Given the description of an element on the screen output the (x, y) to click on. 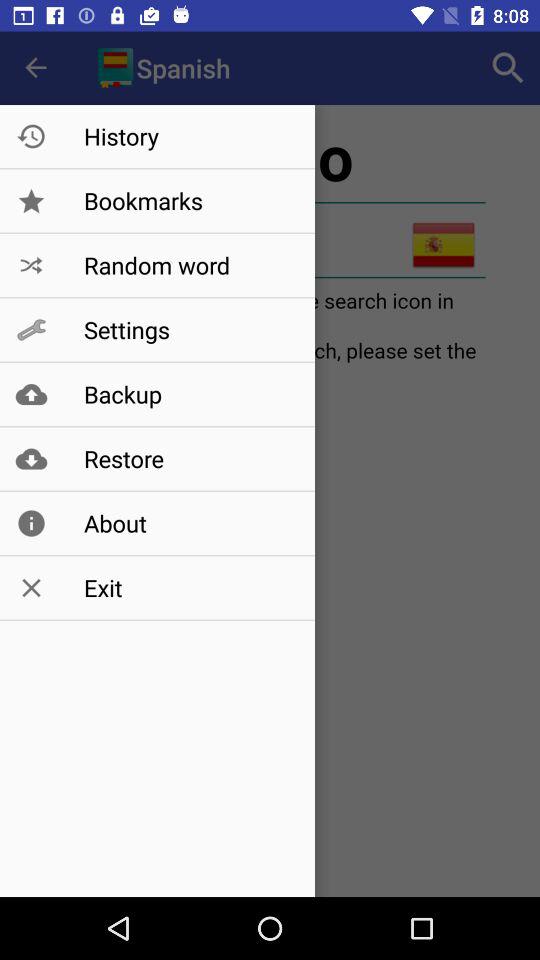
flip until the about item (188, 523)
